Given the description of an element on the screen output the (x, y) to click on. 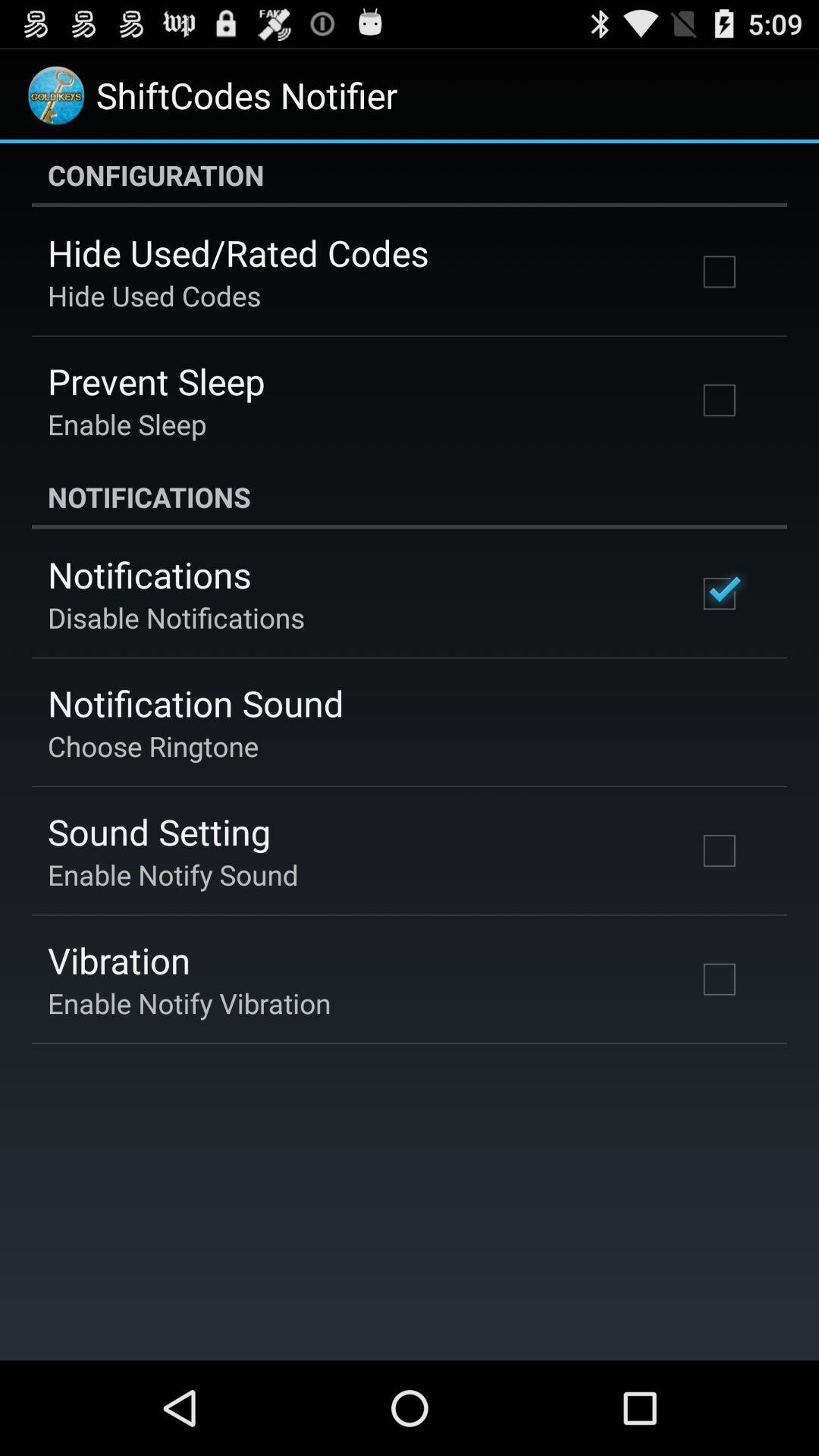
open the app above notification sound icon (175, 617)
